Given the description of an element on the screen output the (x, y) to click on. 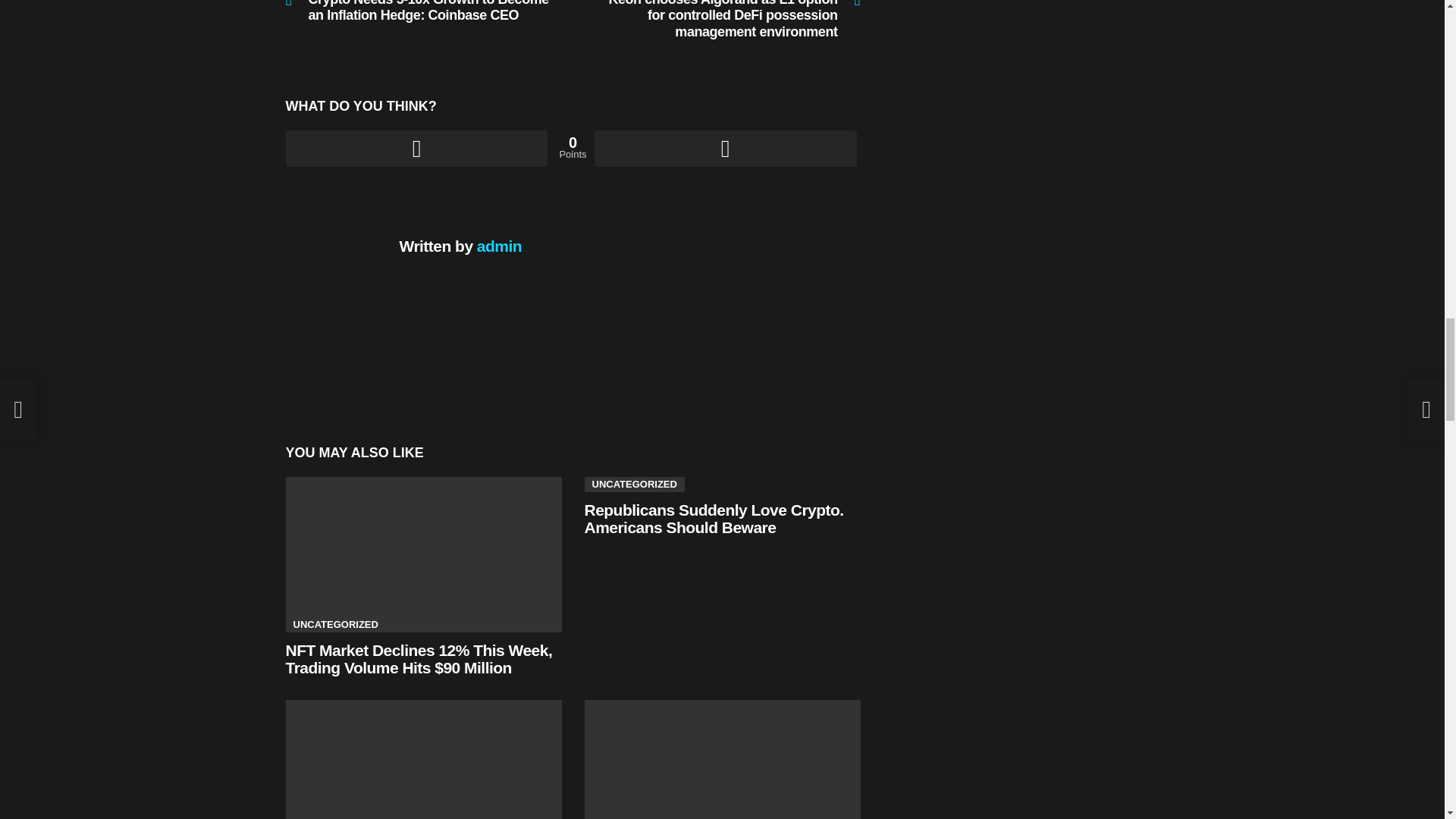
admin (499, 245)
UNCATEGORIZED (633, 484)
Upvote (416, 148)
Downvote (725, 148)
Republicans Suddenly Love Crypto. Americans Should Beware (713, 519)
Downvote (725, 148)
UNCATEGORIZED (335, 624)
Upvote (416, 148)
Crypto Stocks Slump as Bitcoin, Ether Tumble (721, 759)
